Given the description of an element on the screen output the (x, y) to click on. 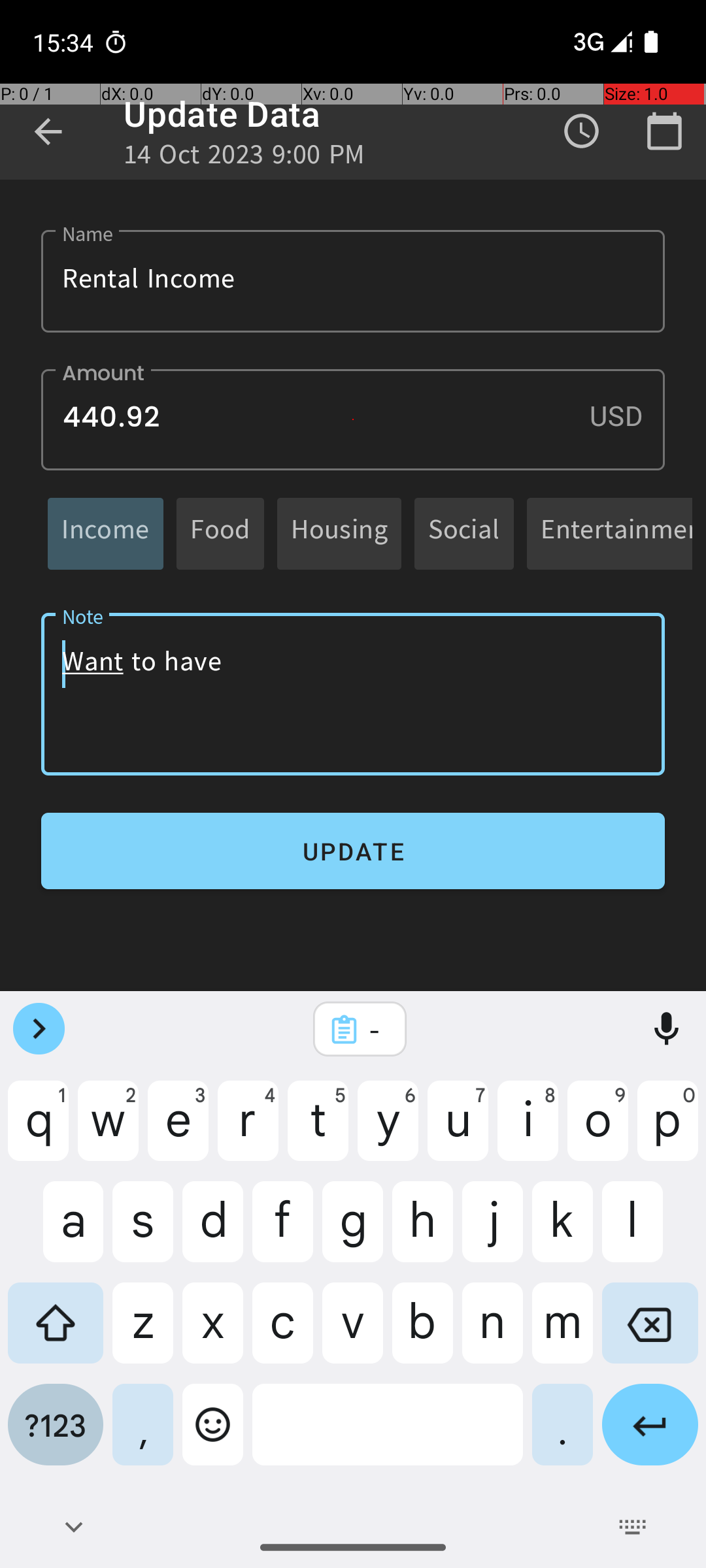
14 Oct 2023 9:00 PM Element type: android.widget.TextView (244, 157)
440.92 Element type: android.widget.EditText (352, 419)
